Given the description of an element on the screen output the (x, y) to click on. 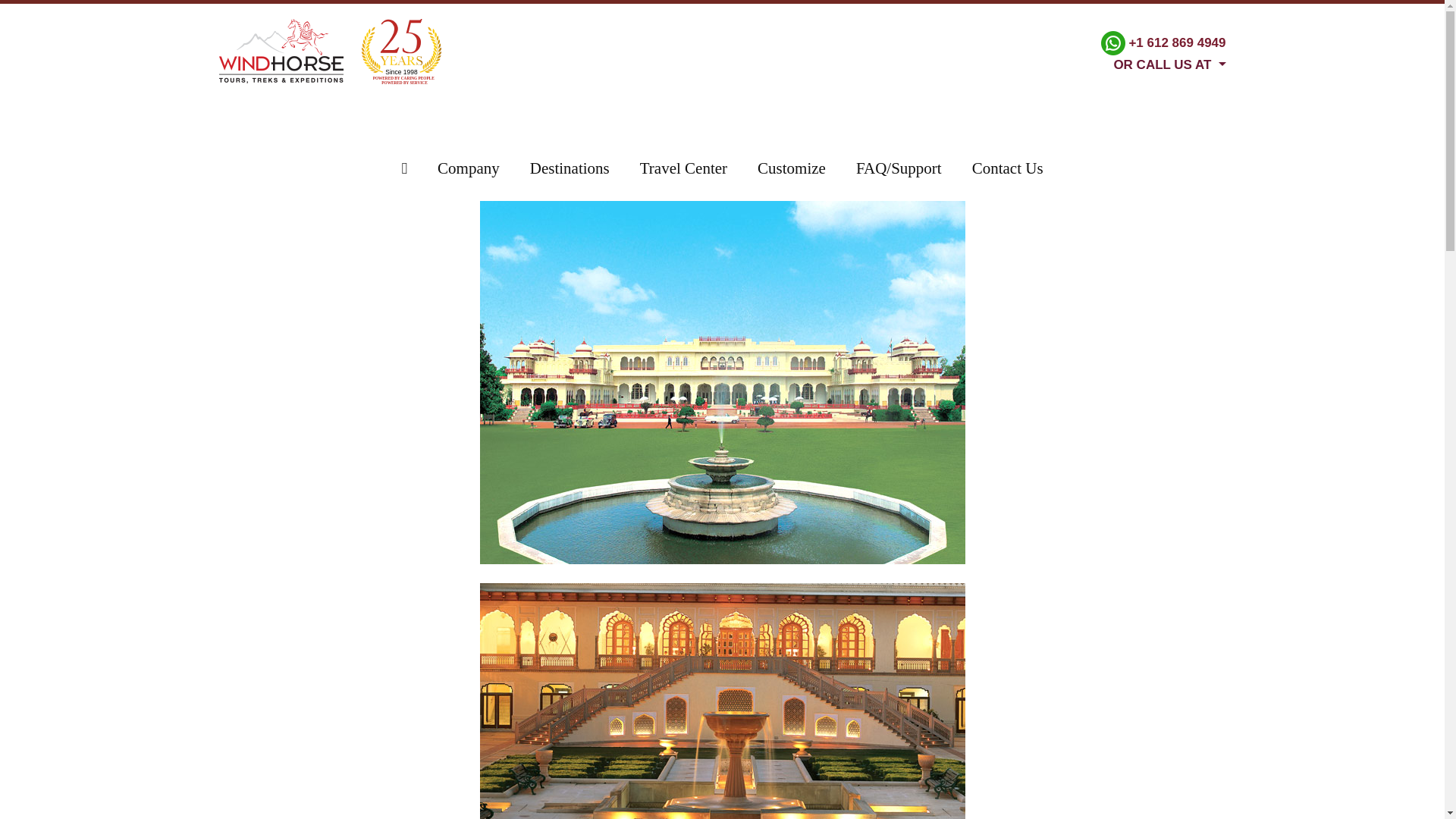
OR CALL US AT (1162, 63)
Contact Us (1007, 168)
Customize (791, 168)
Travel Center (683, 168)
Windhorse Tours 25 Years experience (401, 51)
Company (468, 168)
Destinations (569, 168)
